Given the description of an element on the screen output the (x, y) to click on. 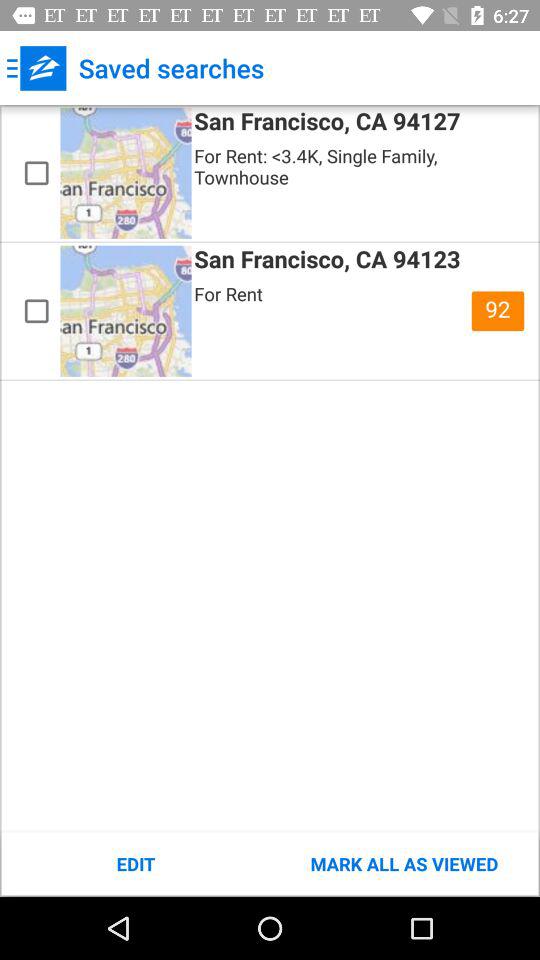
select this saved search (36, 173)
